Given the description of an element on the screen output the (x, y) to click on. 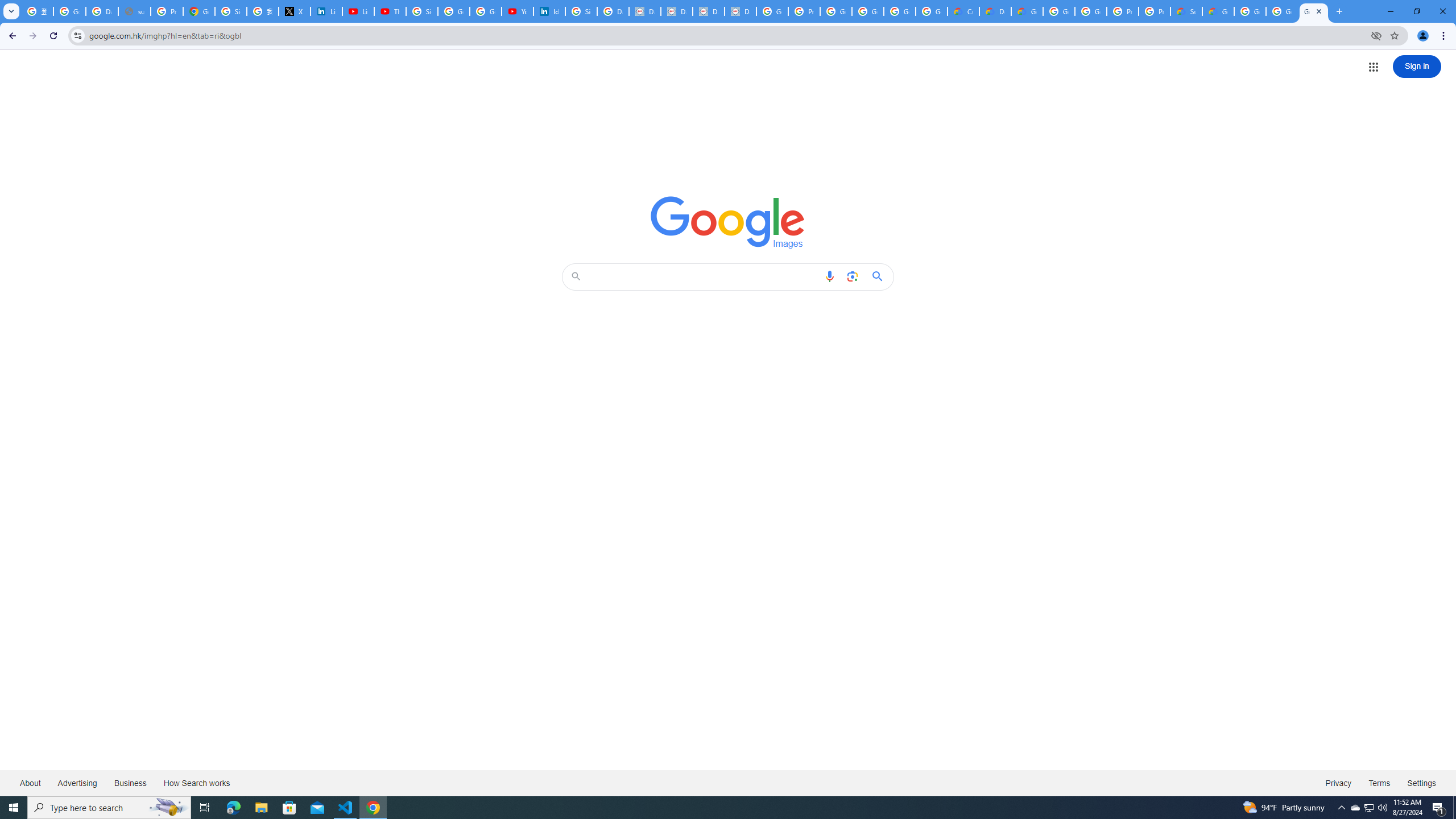
Google Cloud Platform (1281, 11)
Customer Care | Google Cloud (963, 11)
LinkedIn Privacy Policy (326, 11)
Gemini for Business and Developers | Google Cloud (1027, 11)
Google Workspace - Specific Terms (899, 11)
Support Hub | Google Cloud (1185, 11)
